Given the description of an element on the screen output the (x, y) to click on. 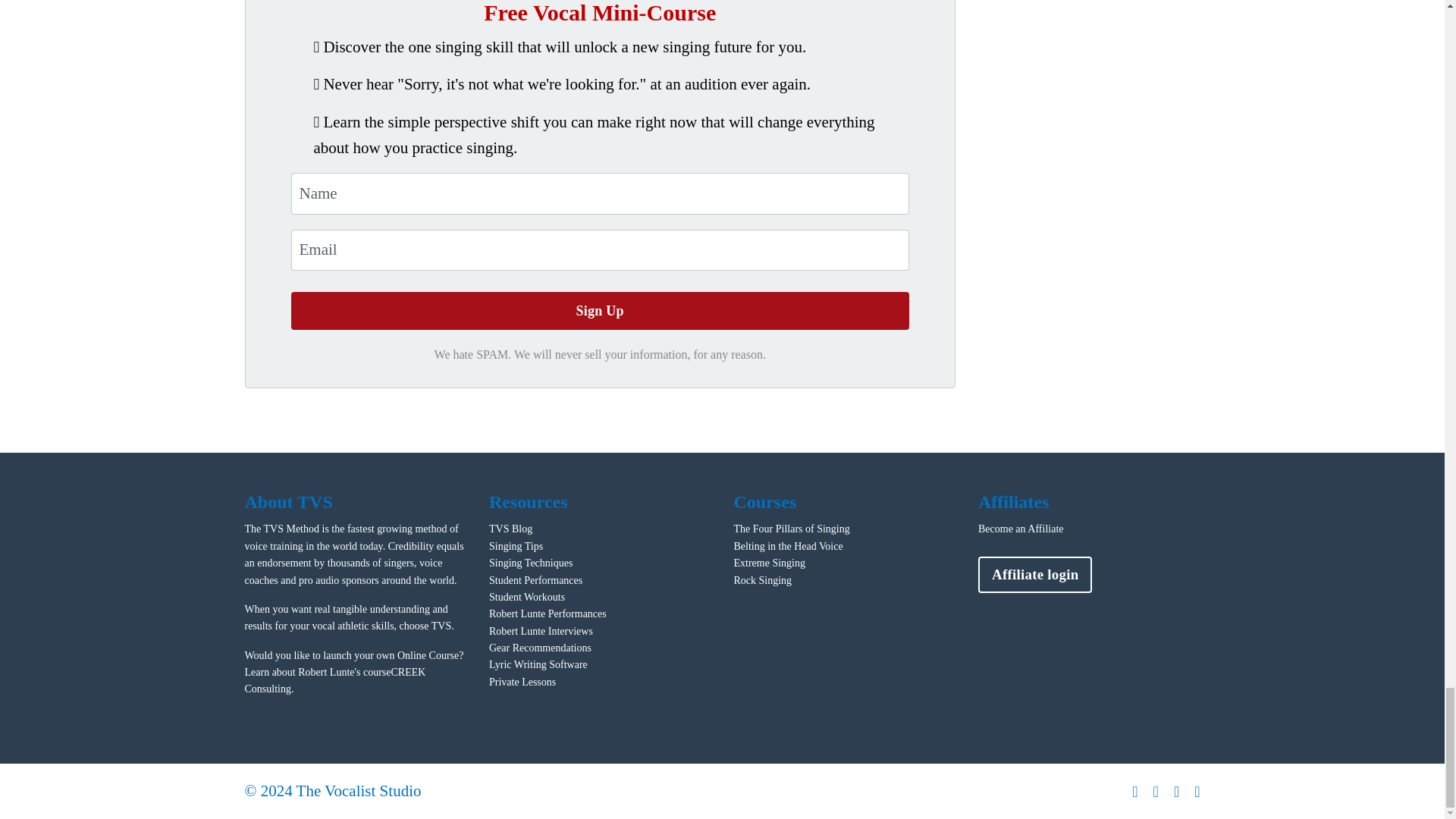
Singing Tips (516, 546)
Become an Affiliate (1020, 528)
Belting in the Head Voice (788, 546)
TVS Blog (510, 528)
Robert Lunte Interviews (540, 631)
Private Singing Lessons (522, 681)
Extreme Singing (769, 562)
Rock Singing (762, 580)
Sign Up (600, 310)
Sign Up (600, 310)
Student Workouts (526, 596)
Student Performances (535, 580)
Singing Techniques (530, 562)
TVS Blog (510, 528)
